Given the description of an element on the screen output the (x, y) to click on. 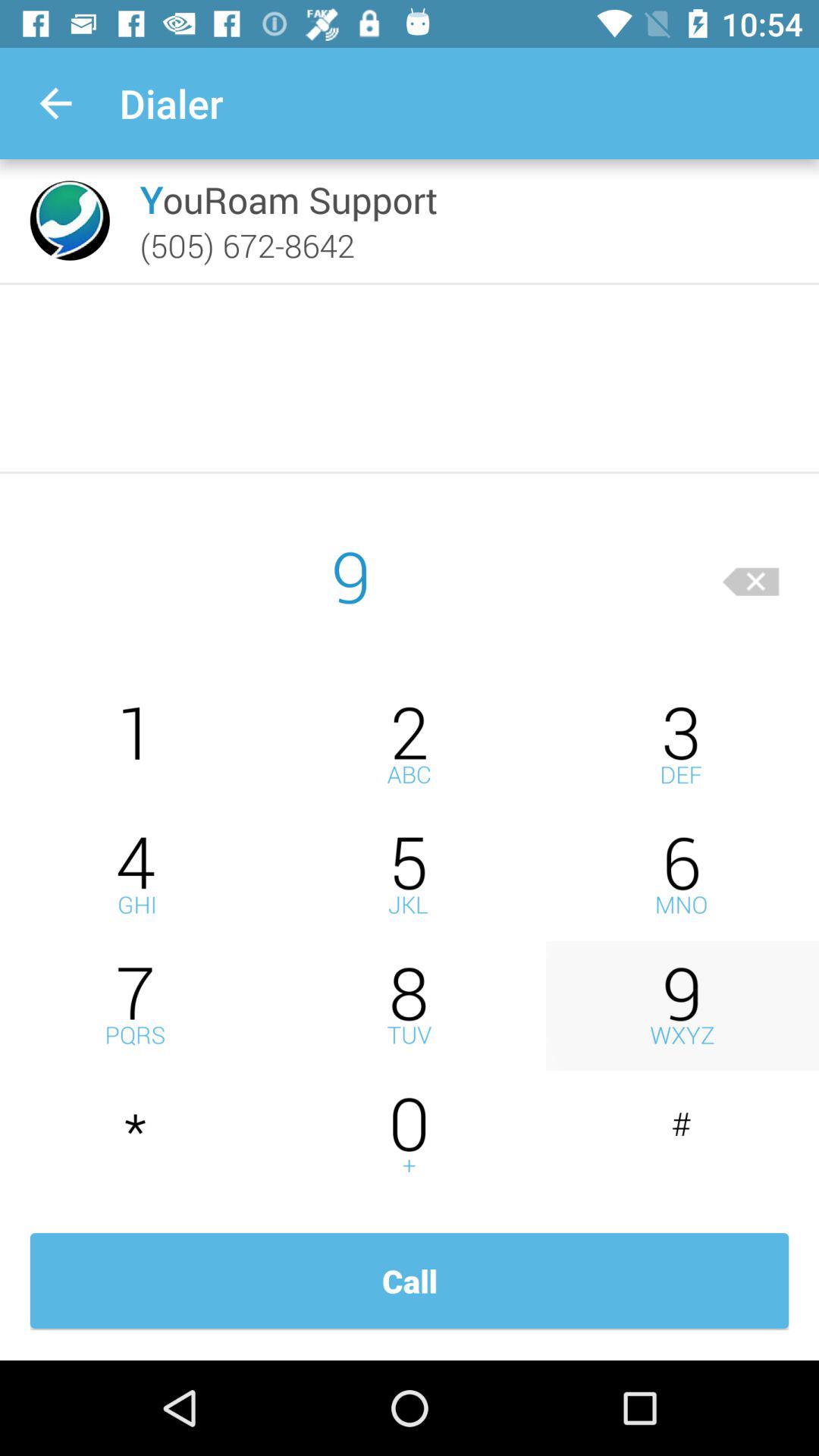
click to number (136, 875)
